Given the description of an element on the screen output the (x, y) to click on. 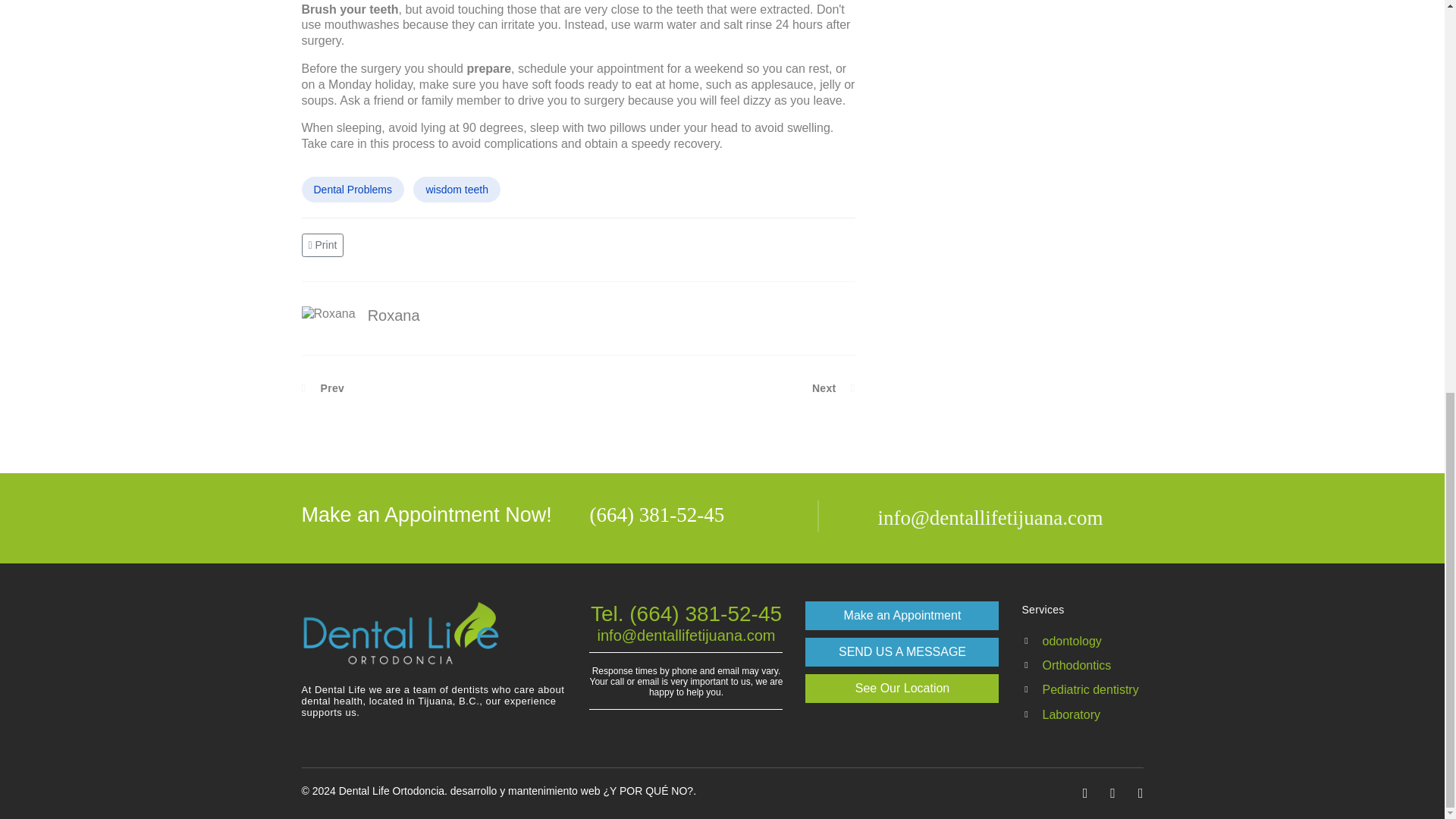
wisdom teeth (456, 189)
Dental Problems (352, 189)
Print (324, 244)
Prev (323, 388)
Next (834, 388)
Make an Appointment Now! (434, 514)
